Given the description of an element on the screen output the (x, y) to click on. 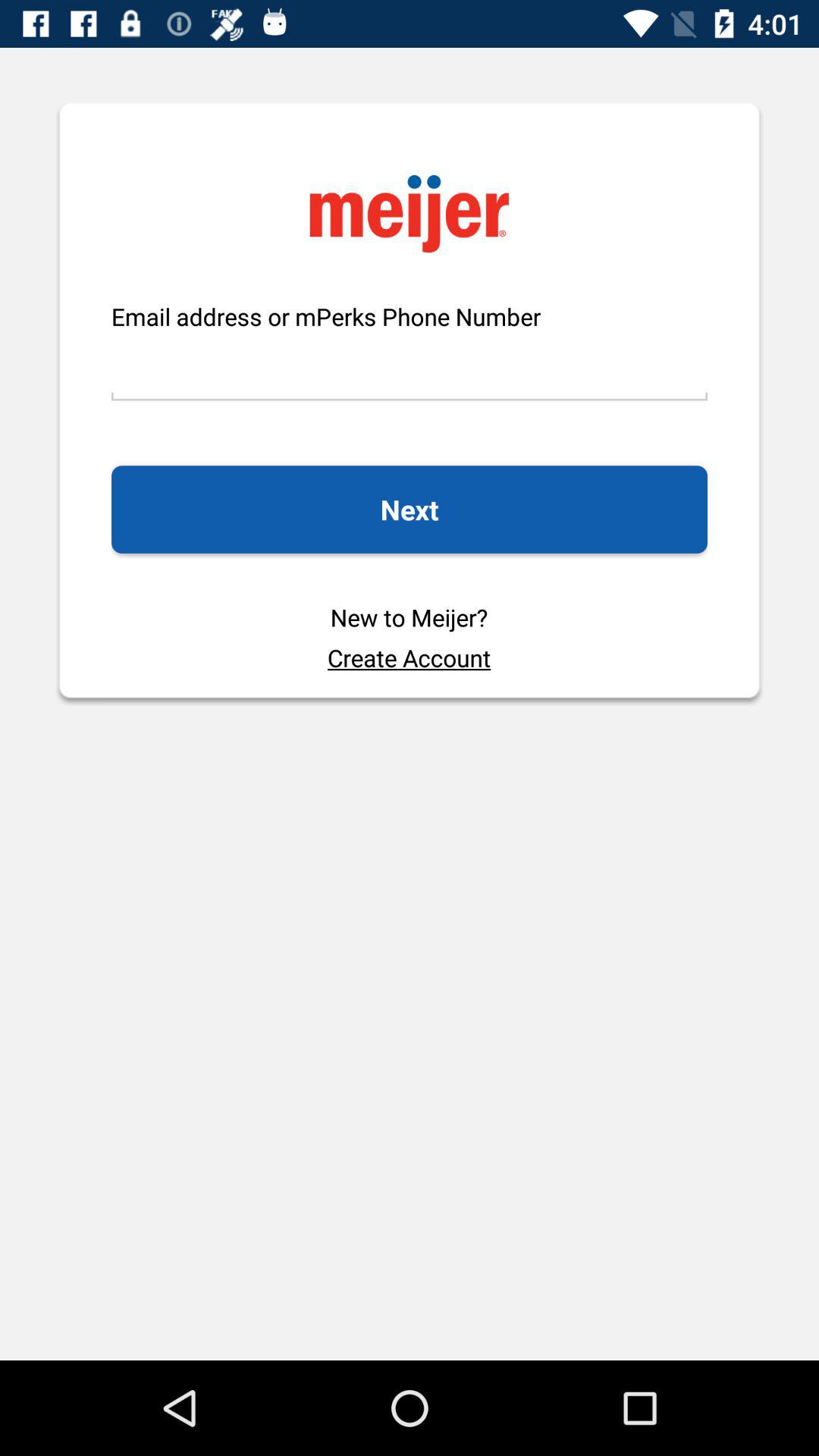
flip until next (409, 509)
